Given the description of an element on the screen output the (x, y) to click on. 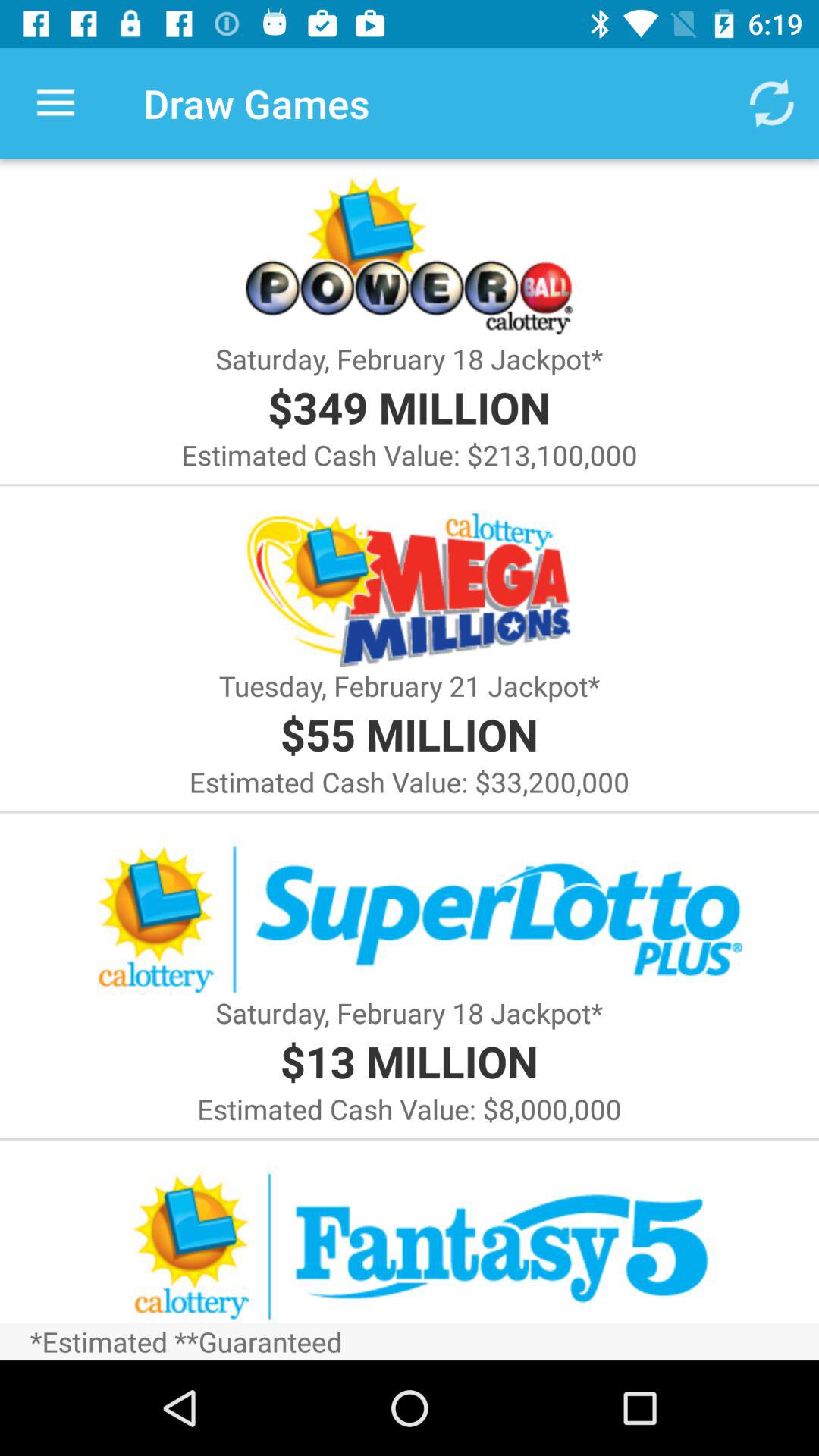
swipe until the $349 million item (408, 406)
